Given the description of an element on the screen output the (x, y) to click on. 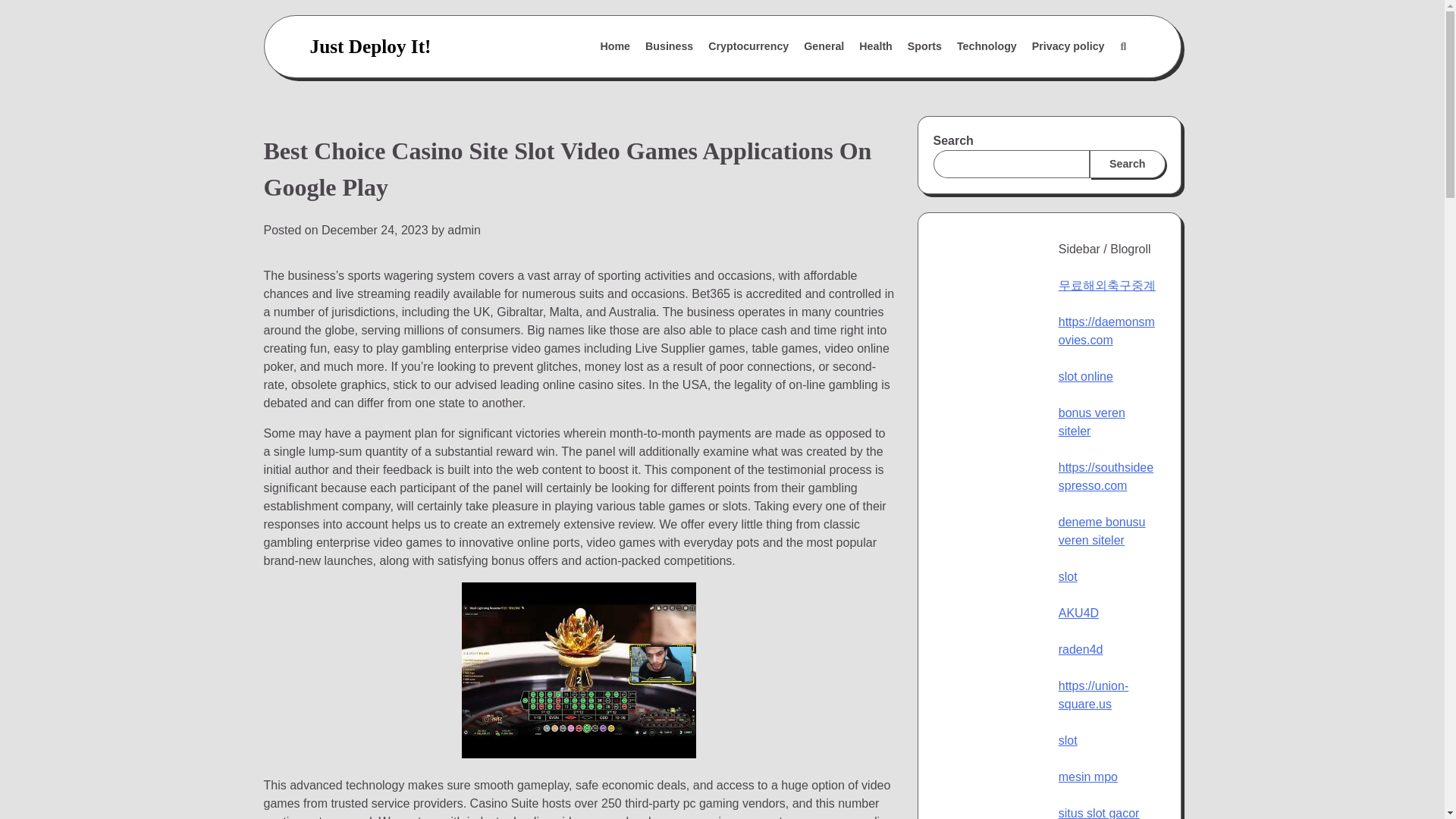
admin (463, 229)
Search (1086, 83)
Cryptocurrency (748, 46)
Search (1126, 163)
Business (668, 46)
Home (614, 46)
slot online (1085, 376)
Technology (987, 46)
Privacy policy (1068, 46)
Sports (924, 46)
slot (1067, 576)
deneme bonusu veren siteler (1101, 531)
AKU4D (1078, 612)
December 24, 2023 (374, 229)
Search (1123, 47)
